Given the description of an element on the screen output the (x, y) to click on. 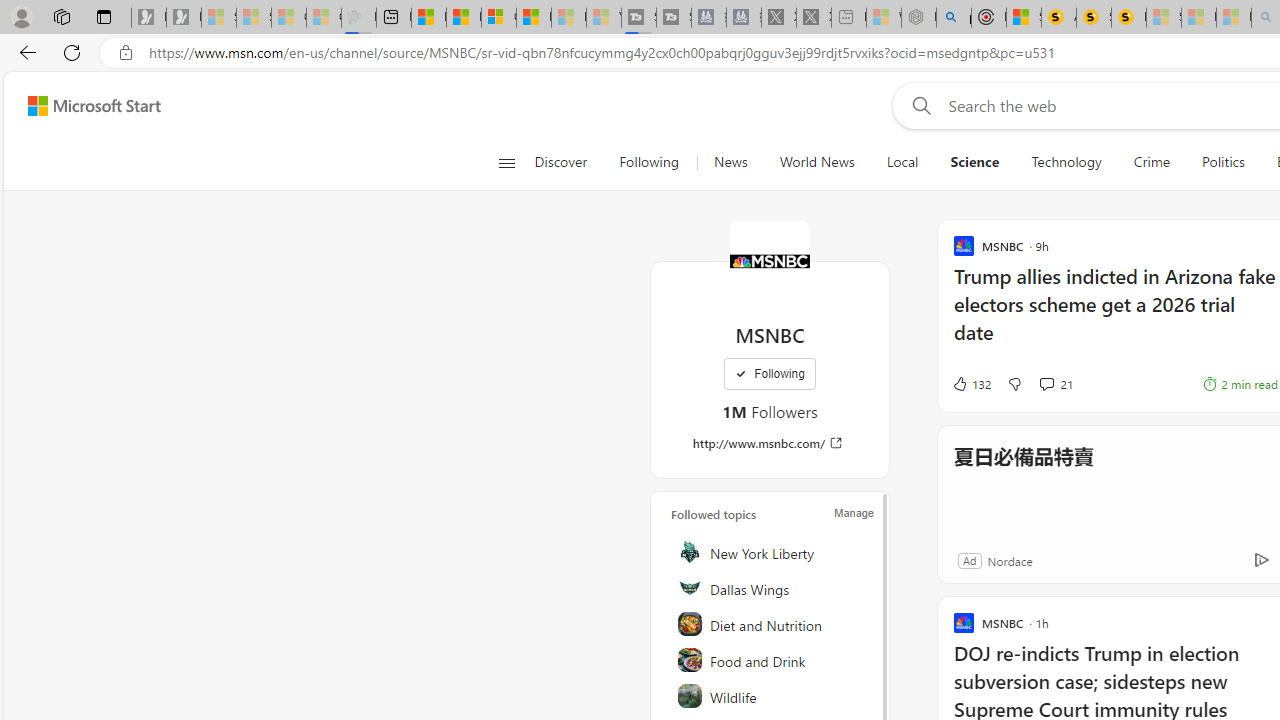
Local (902, 162)
http://www.msnbc.com/ (769, 443)
poe - Search (954, 17)
Crime (1151, 162)
Wildlife - MSN - Sleeping (883, 17)
Skip to content (86, 105)
Crime (1151, 162)
